Given the description of an element on the screen output the (x, y) to click on. 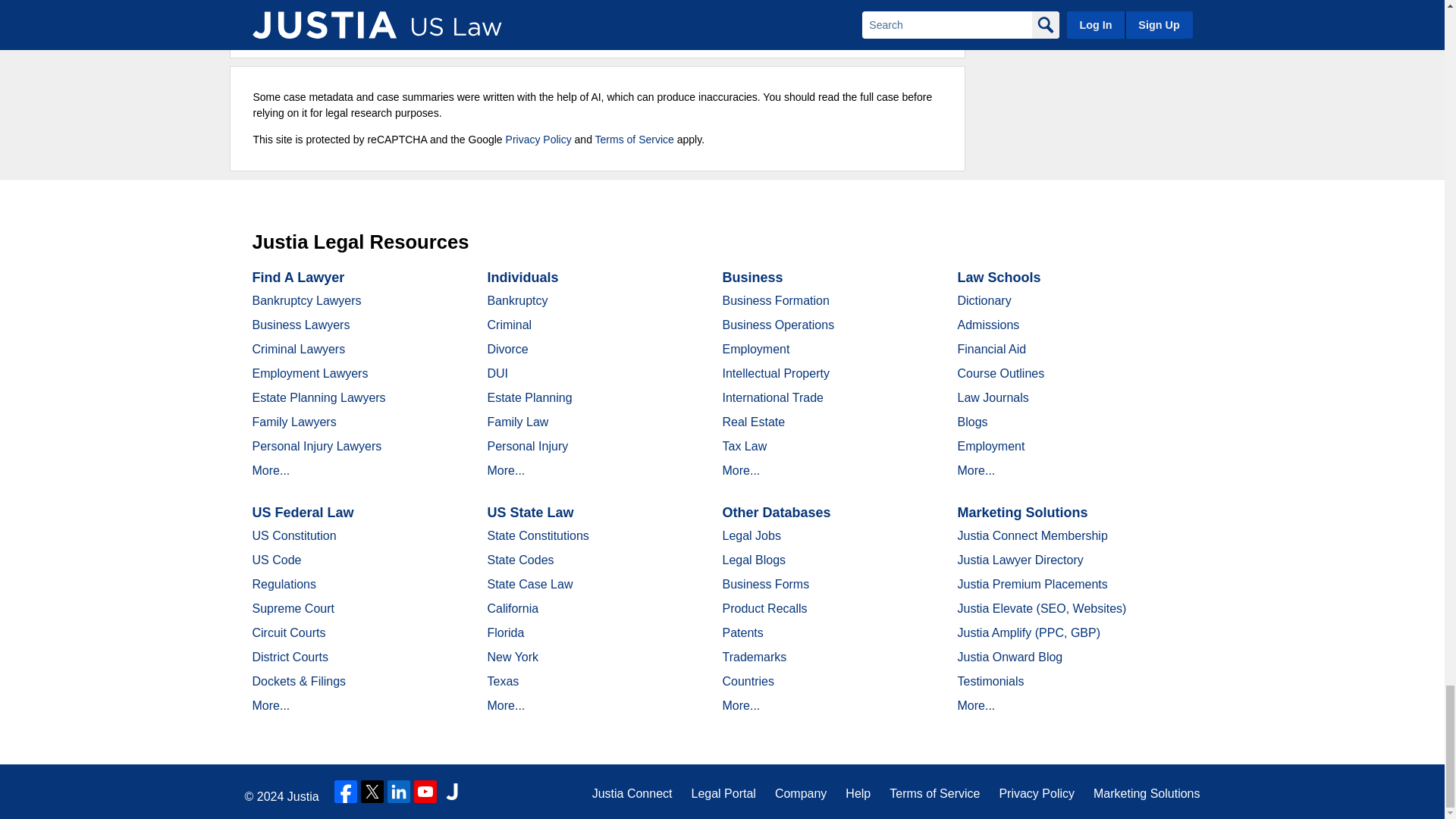
Facebook (345, 791)
LinkedIn (398, 791)
Twitter (372, 791)
